Given the description of an element on the screen output the (x, y) to click on. 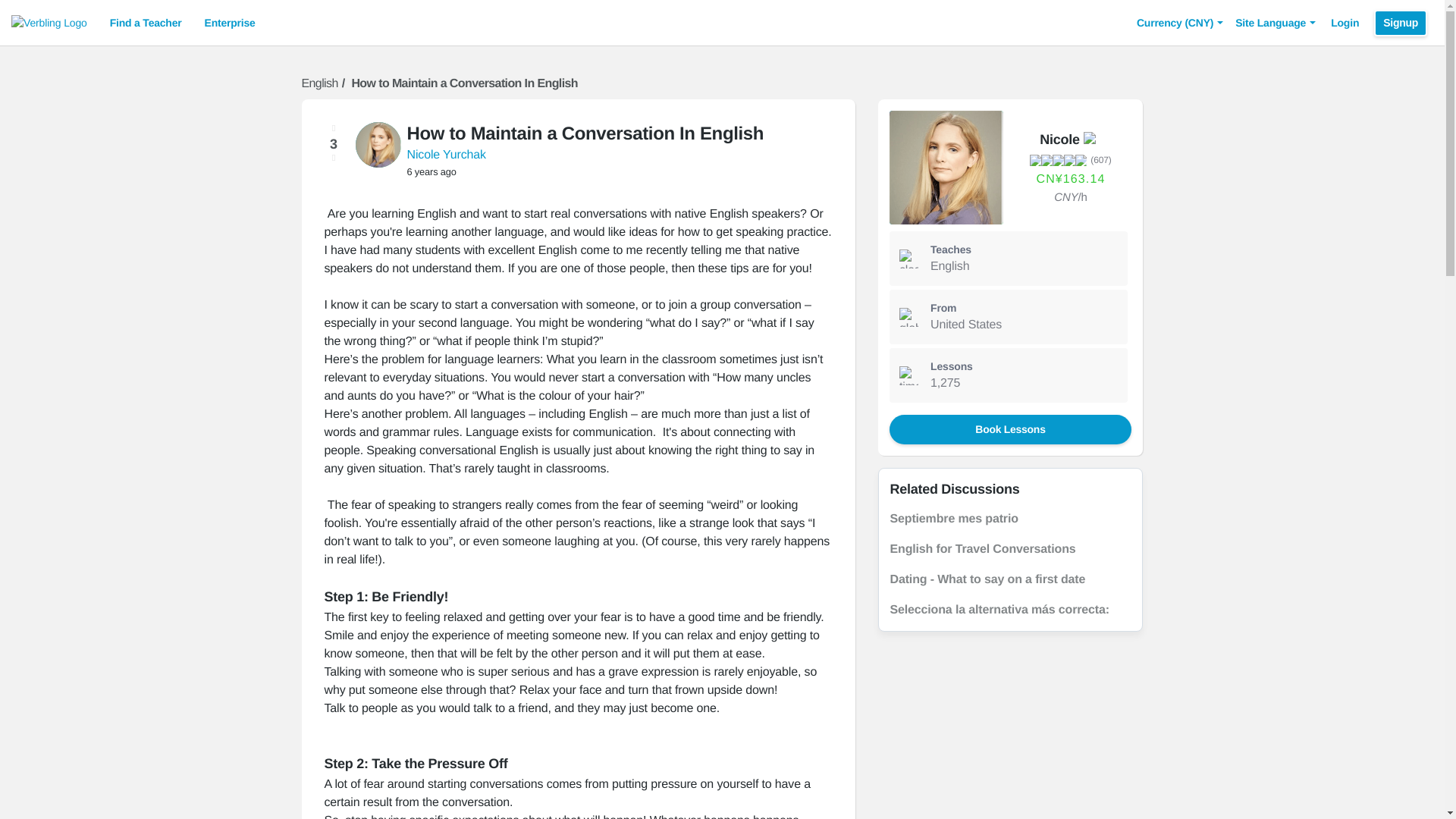
Enterprise (229, 22)
English (319, 83)
Nicole Yurchak (445, 154)
Book Lessons (1009, 429)
Septiembre mes patrio (953, 518)
Site Language (1275, 22)
Find a Teacher (146, 22)
Signup (1400, 22)
